Given the description of an element on the screen output the (x, y) to click on. 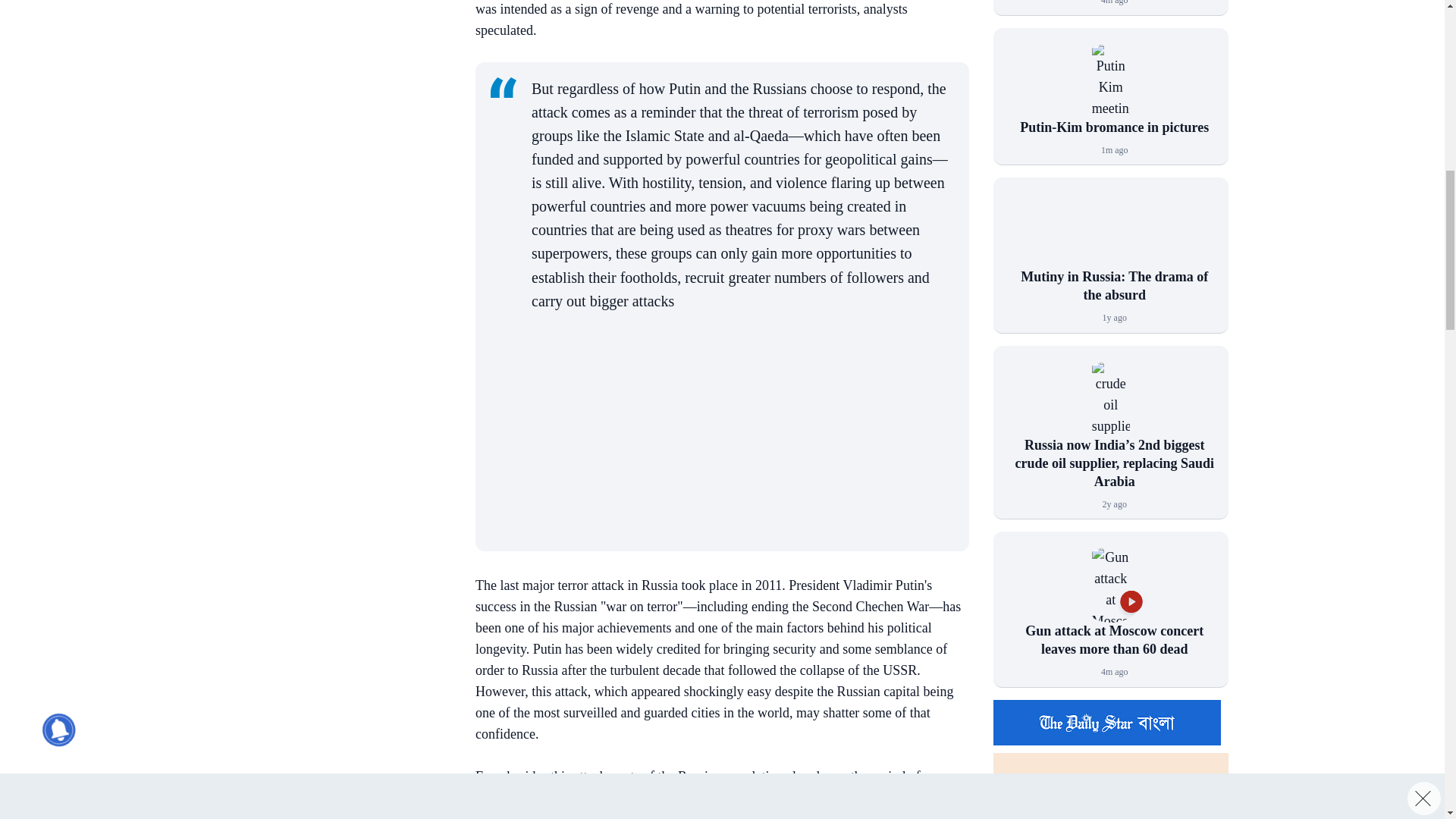
3rd party ad content (332, 177)
3rd party ad content (332, 33)
3rd party ad content (734, 425)
